Given the description of an element on the screen output the (x, y) to click on. 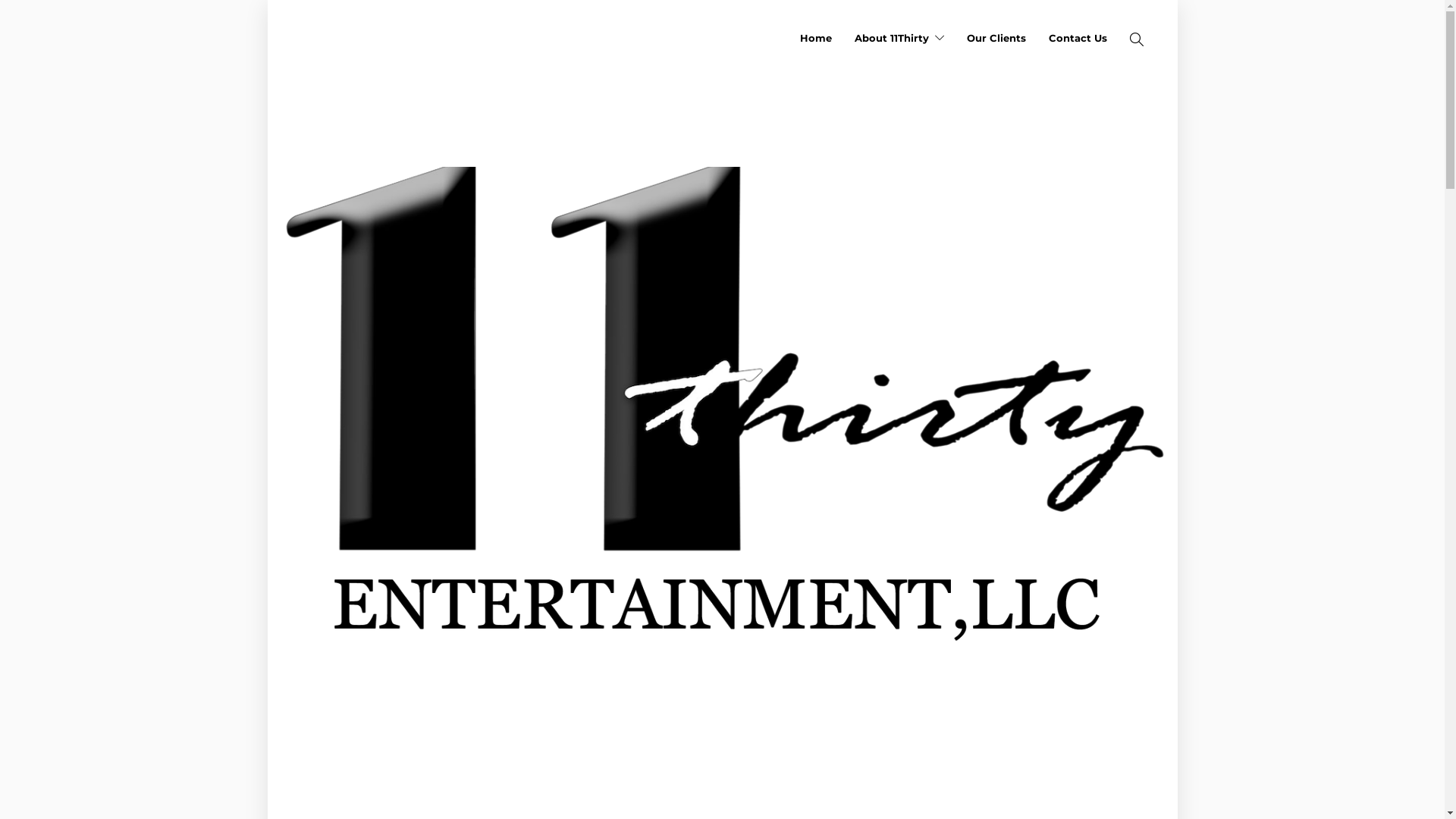
Home Element type: text (815, 37)
About 11Thirty Element type: text (898, 37)
Our Clients Element type: text (995, 37)
Contact Us Element type: text (1077, 37)
